Given the description of an element on the screen output the (x, y) to click on. 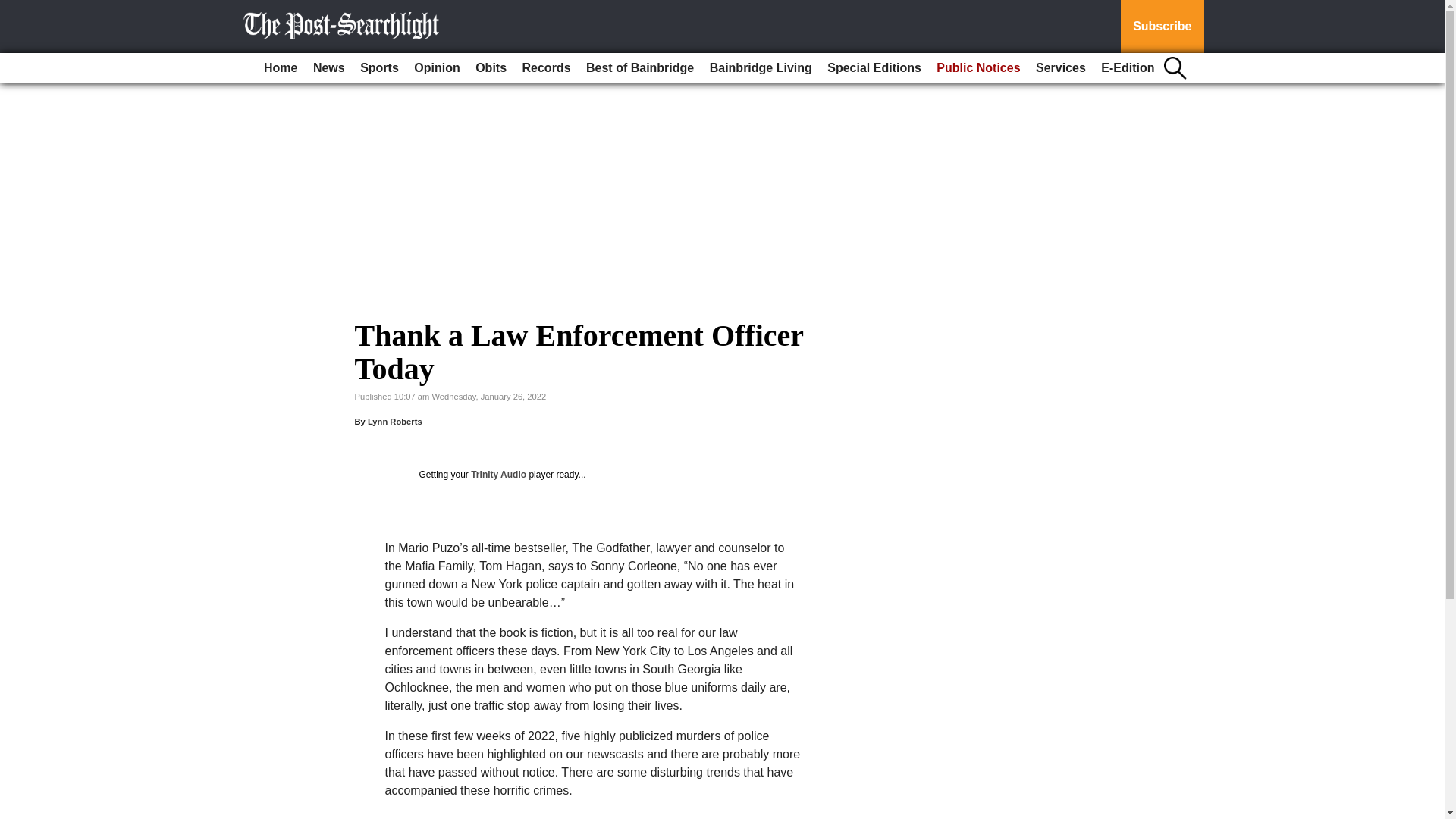
Obits (490, 68)
E-Edition (1127, 68)
Services (1060, 68)
Home (279, 68)
Records (546, 68)
Lynn Roberts (395, 420)
Subscribe (1162, 26)
Sports (378, 68)
Best of Bainbridge (639, 68)
Trinity Audio (497, 474)
